Given the description of an element on the screen output the (x, y) to click on. 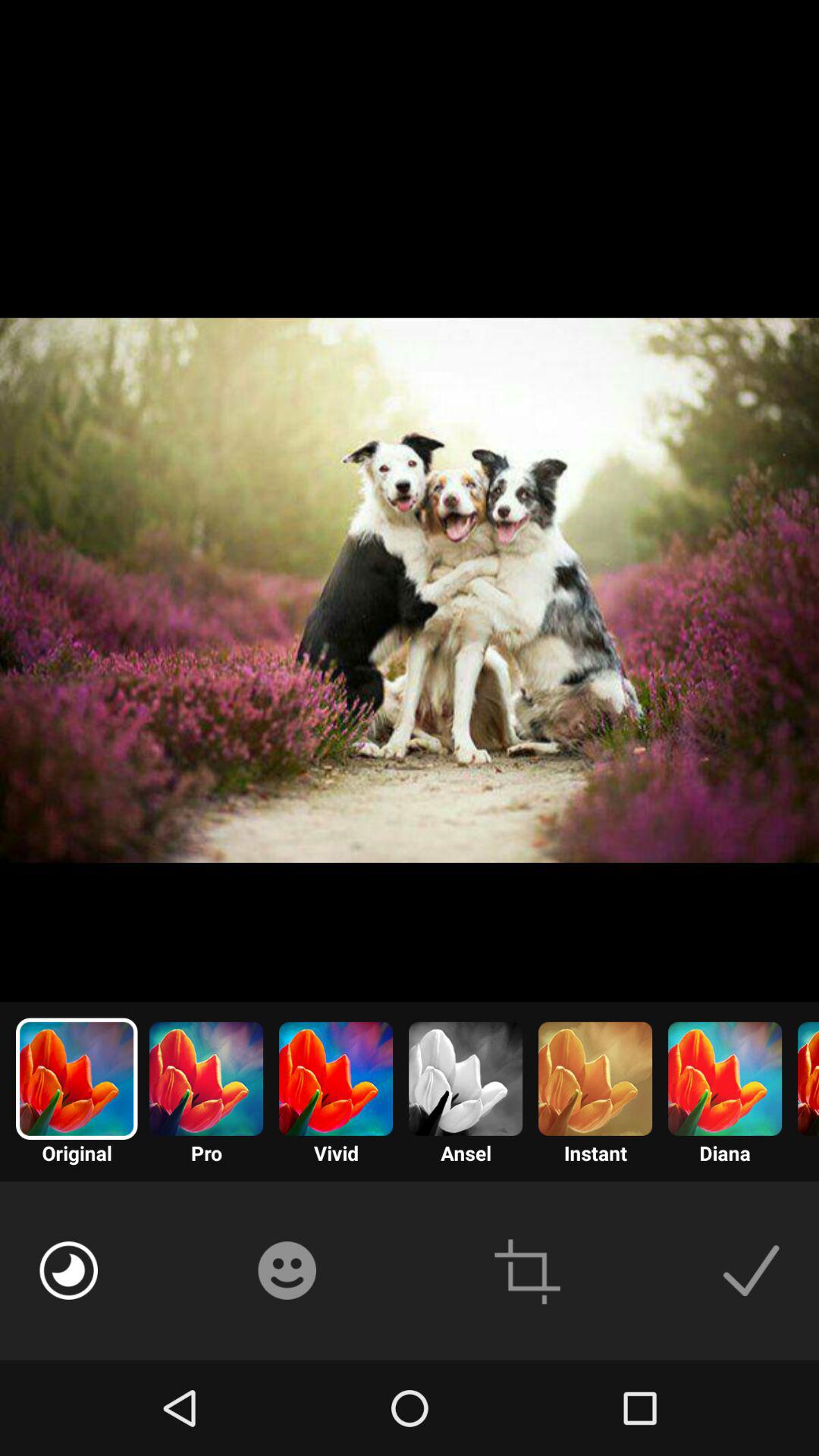
resize the image (527, 1270)
